Given the description of an element on the screen output the (x, y) to click on. 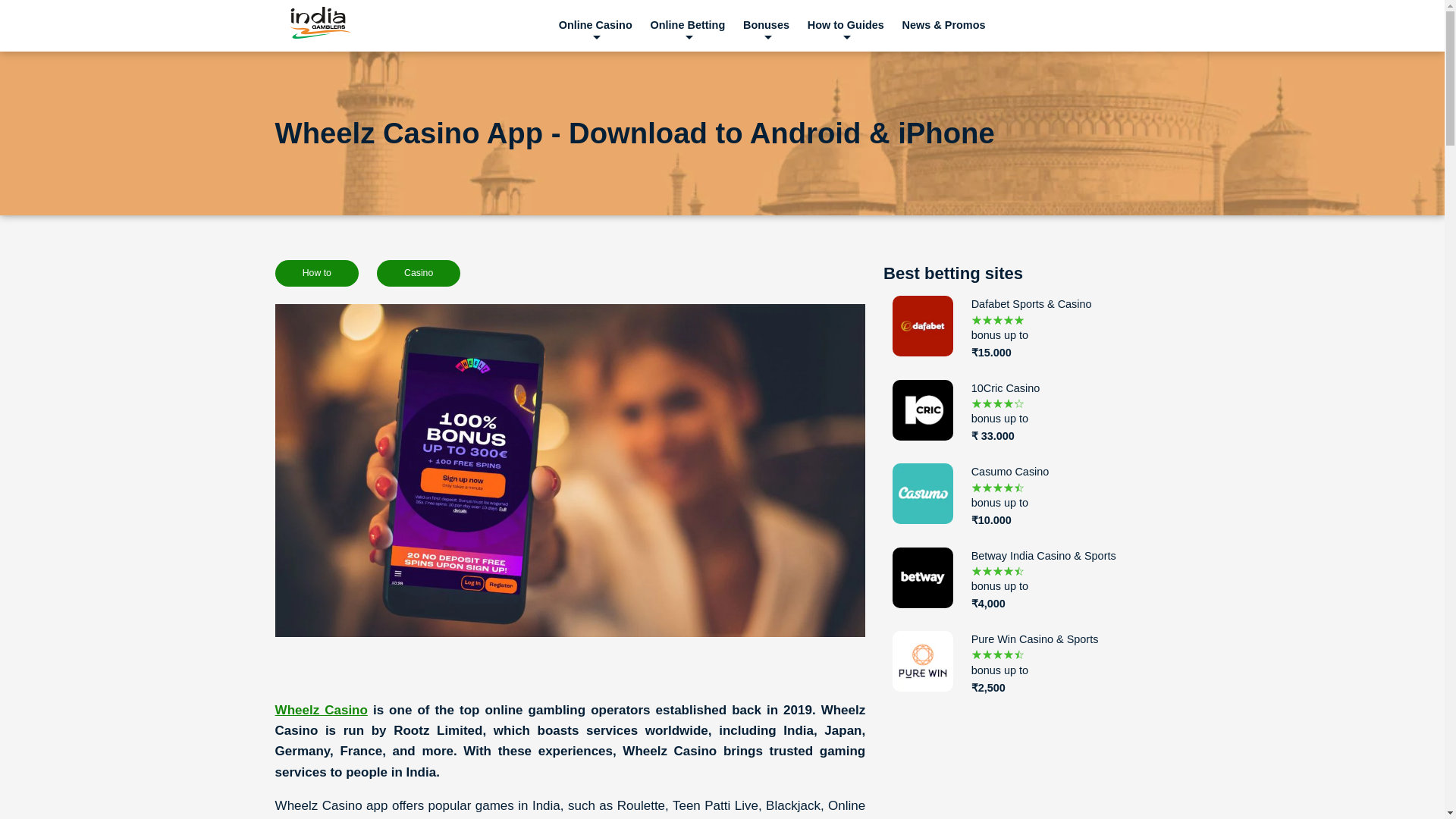
casumo-casino-india-logo (922, 493)
Online Casino (596, 25)
Online Betting (687, 25)
betway-inda-logo (922, 577)
dafabet-india-logo (922, 325)
How to Guides (845, 25)
Bonuses (765, 25)
